Given the description of an element on the screen output the (x, y) to click on. 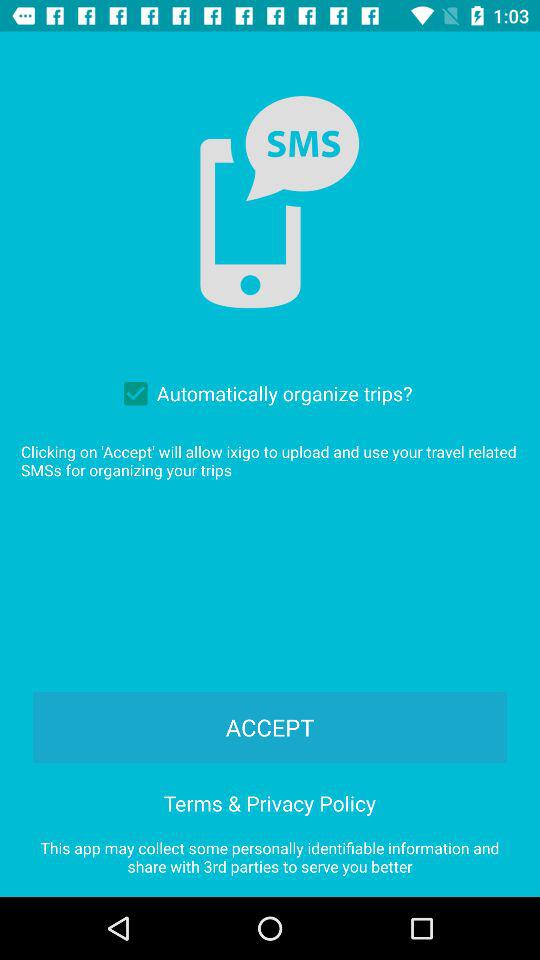
launch automatically organize trips? item (263, 393)
